Given the description of an element on the screen output the (x, y) to click on. 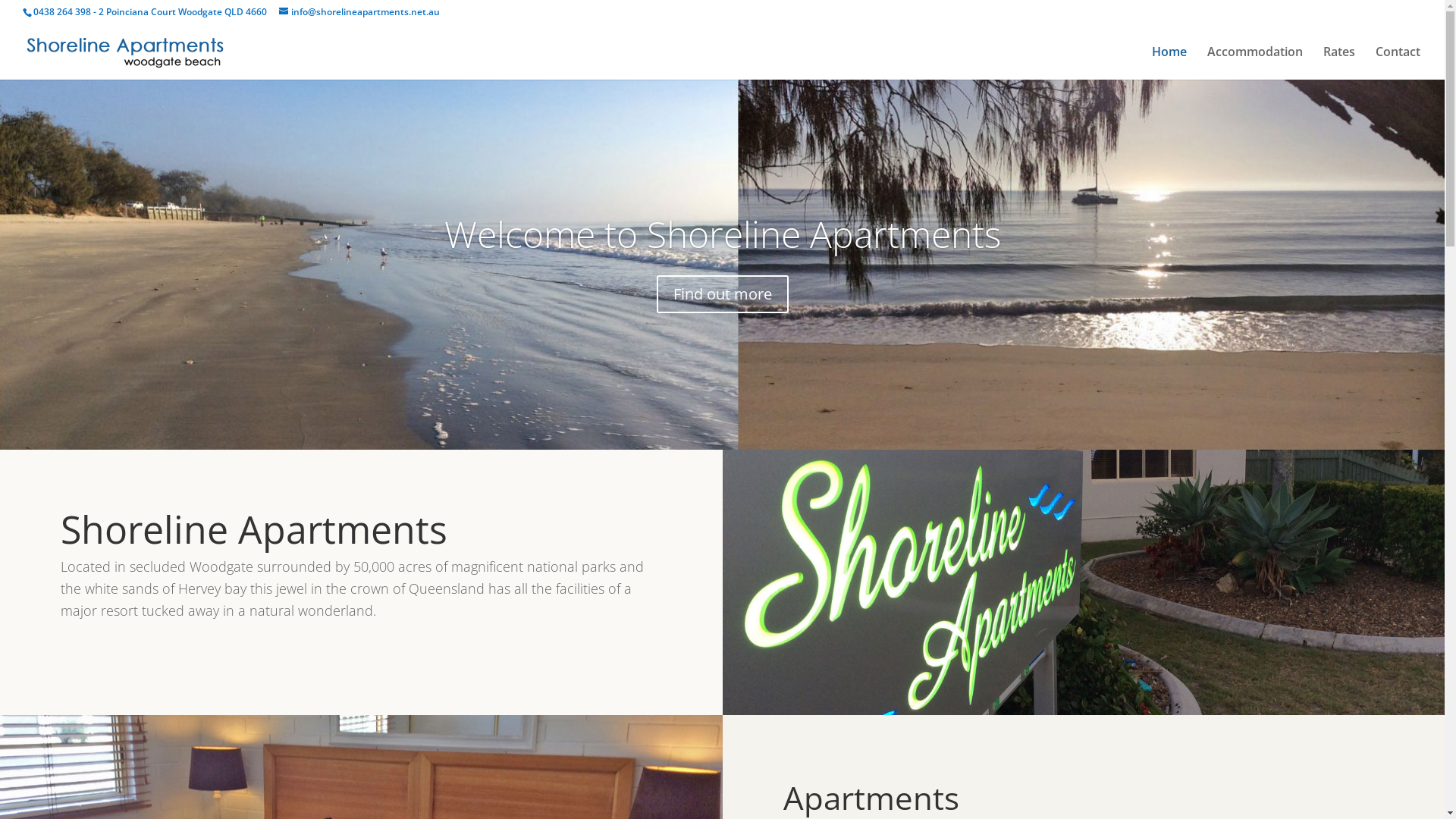
Home Element type: text (1168, 62)
Welcome to Shoreline Apartments Element type: text (722, 233)
Find out more Element type: text (722, 294)
Contact Element type: text (1397, 62)
info@shorelineapartments.net.au Element type: text (359, 11)
Rates Element type: text (1339, 62)
Accommodation Element type: text (1254, 62)
0438 264 398 Element type: text (62, 11)
